Given the description of an element on the screen output the (x, y) to click on. 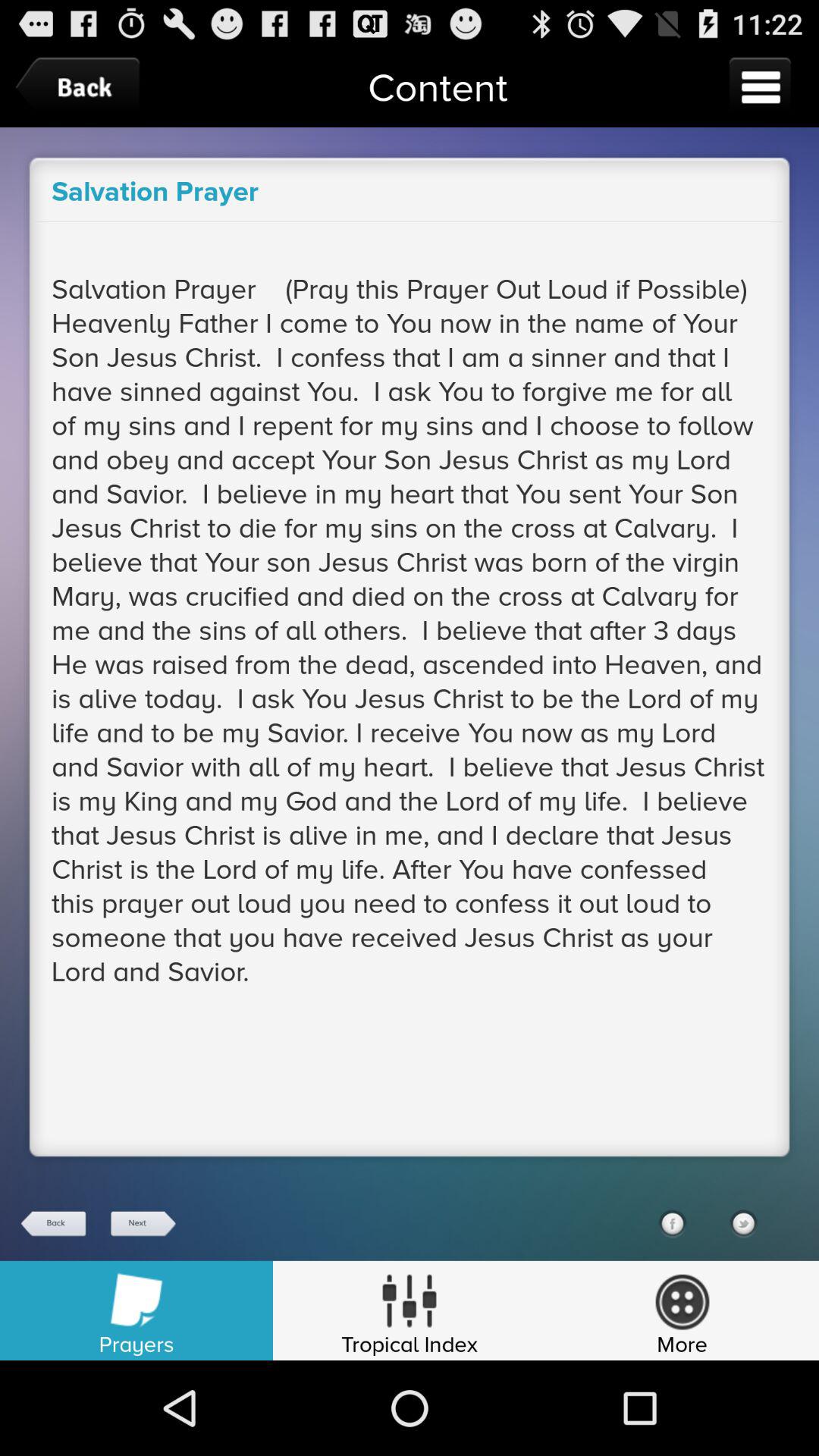
next going button (142, 1223)
